Given the description of an element on the screen output the (x, y) to click on. 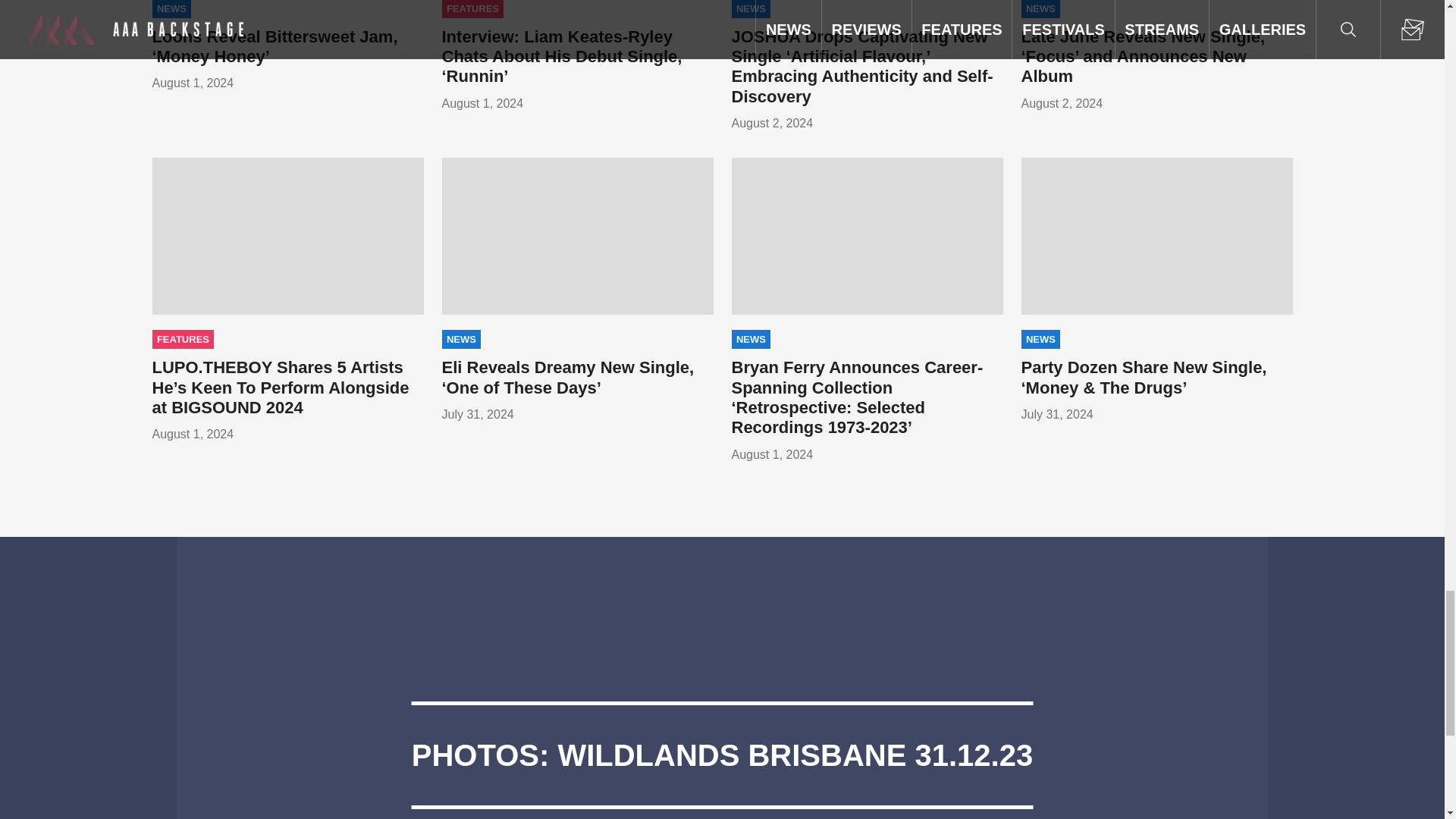
FEATURES (472, 9)
NEWS (170, 9)
